Given the description of an element on the screen output the (x, y) to click on. 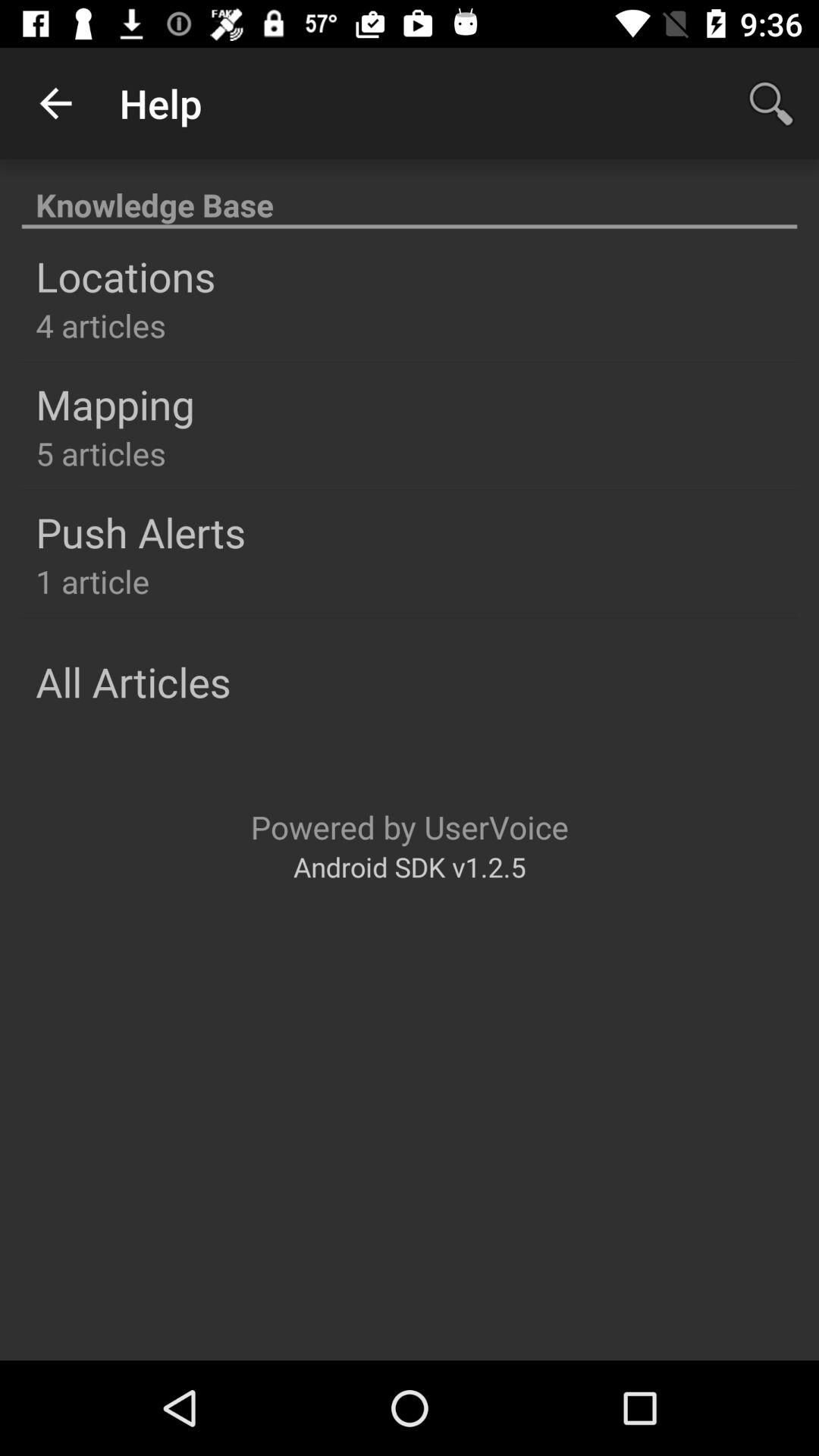
choose the item below the locations (100, 324)
